Given the description of an element on the screen output the (x, y) to click on. 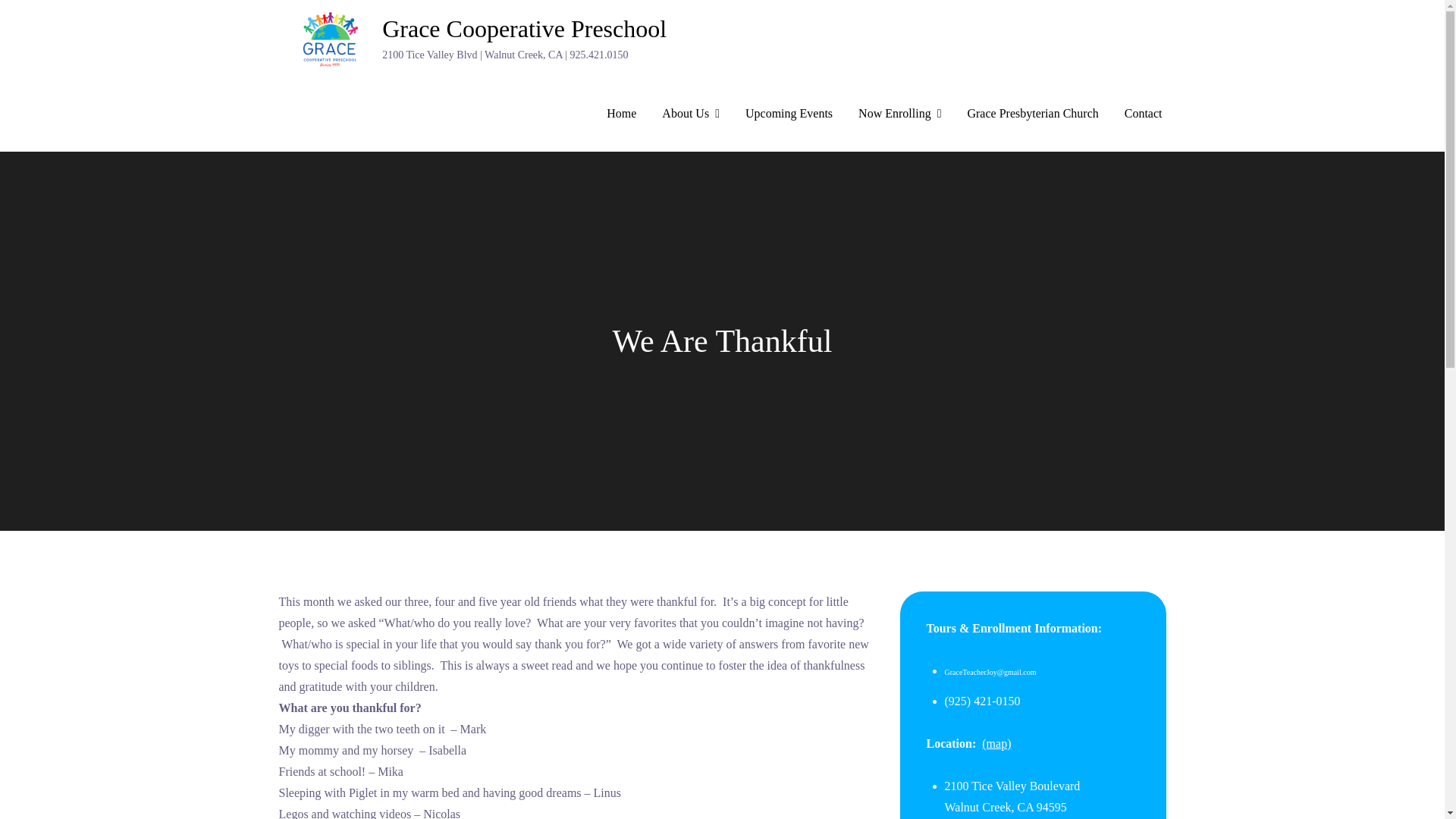
Now Enrolling (899, 113)
About Us (690, 113)
Home (621, 113)
Upcoming Events (788, 113)
Grace Presbyterian Church (1031, 113)
Grace Cooperative Preschool (523, 28)
Contact (1142, 113)
